Given the description of an element on the screen output the (x, y) to click on. 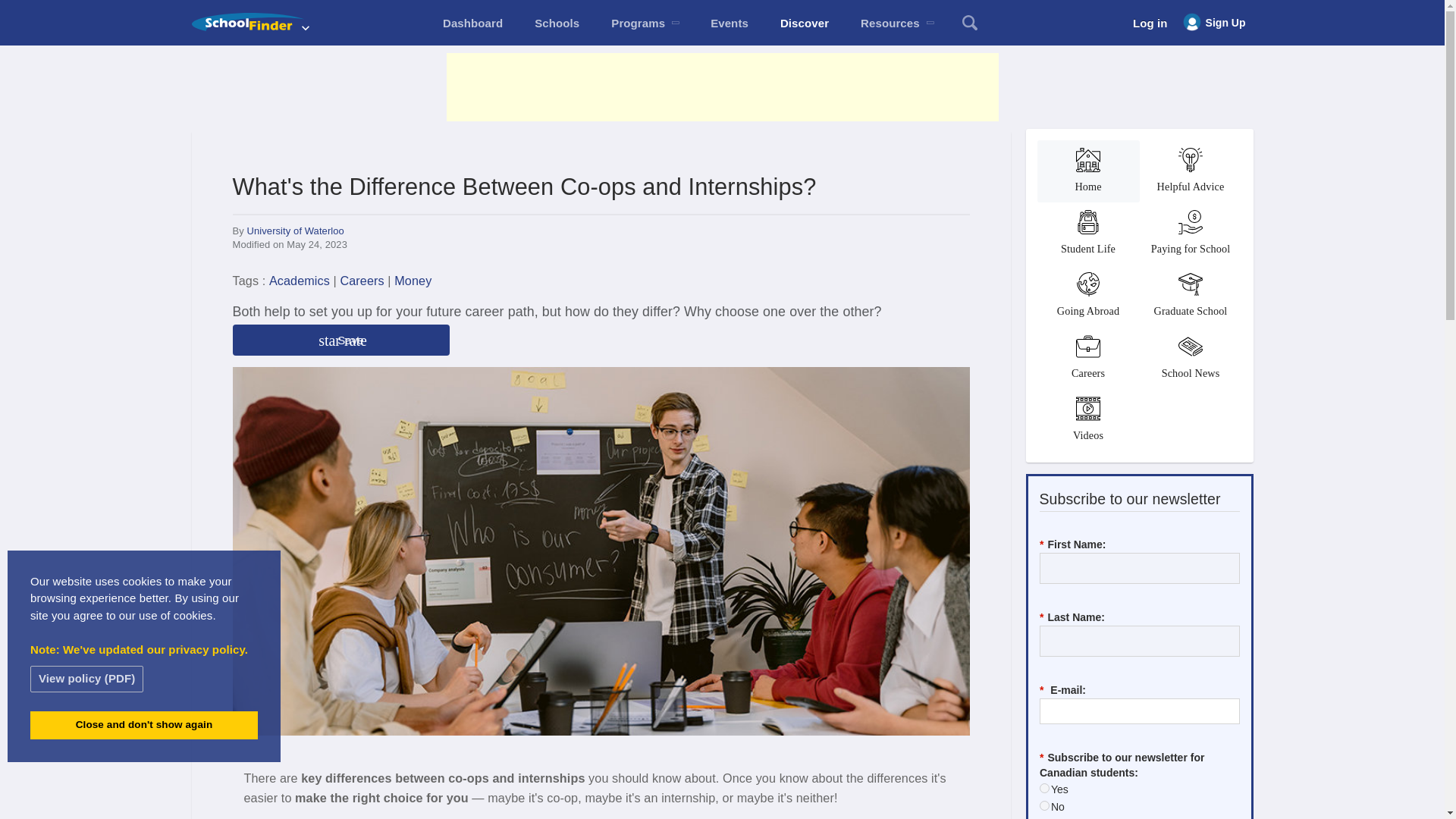
Programs (644, 22)
Events (729, 22)
Schools (556, 22)
Discover (804, 22)
Money (412, 280)
Close and don't show again (143, 725)
Careers (361, 280)
Advertisement (721, 87)
Academics (299, 280)
Events (729, 22)
Save (340, 339)
Resources (896, 22)
Home (1088, 171)
Helpful Advice (1189, 171)
University of Waterloo (295, 230)
